Given the description of an element on the screen output the (x, y) to click on. 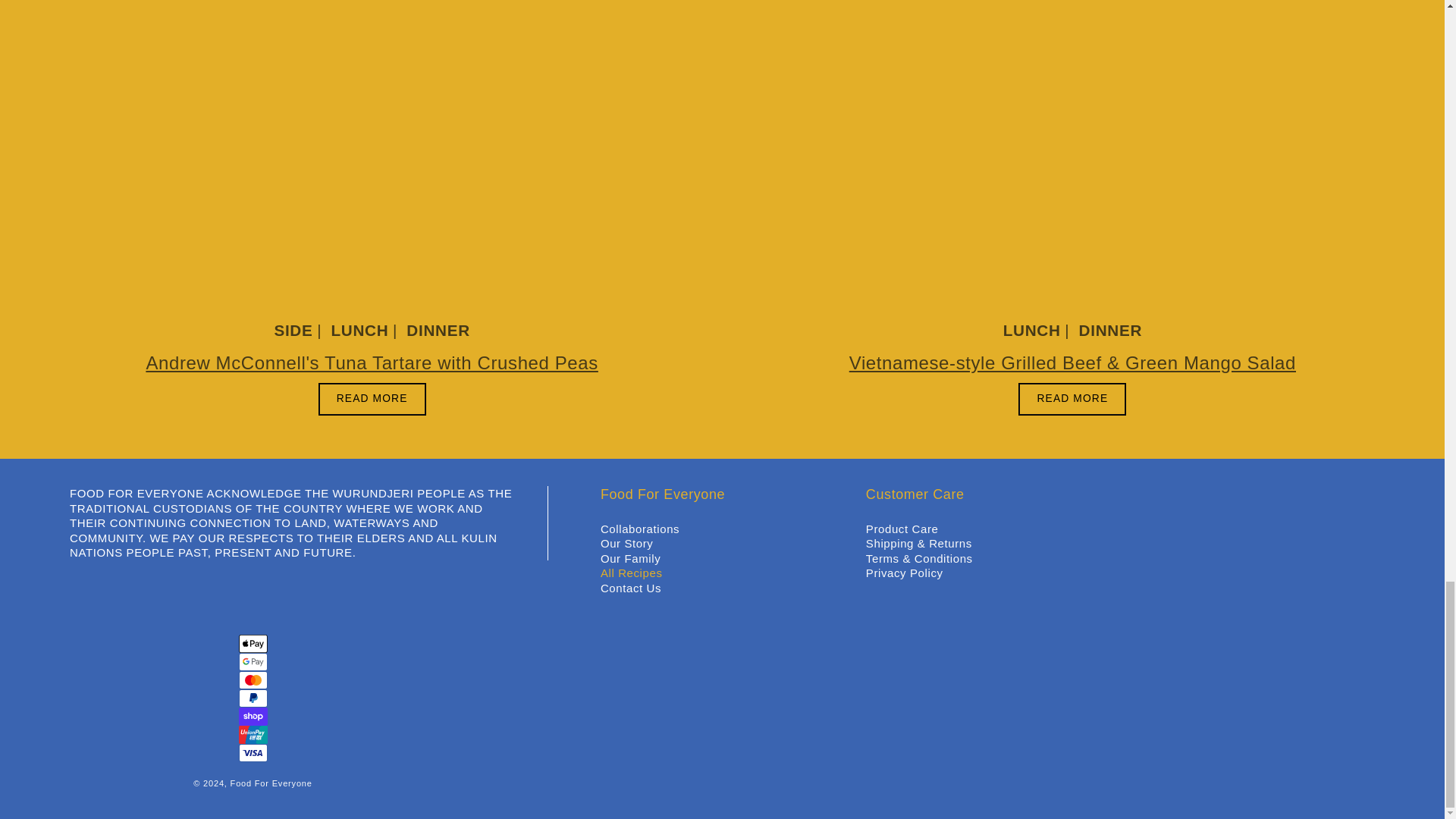
Contact Us (630, 587)
All Recipes (630, 572)
Our Family (630, 558)
Product Care (902, 528)
Collaborations (639, 528)
Our Story (626, 543)
